Given the description of an element on the screen output the (x, y) to click on. 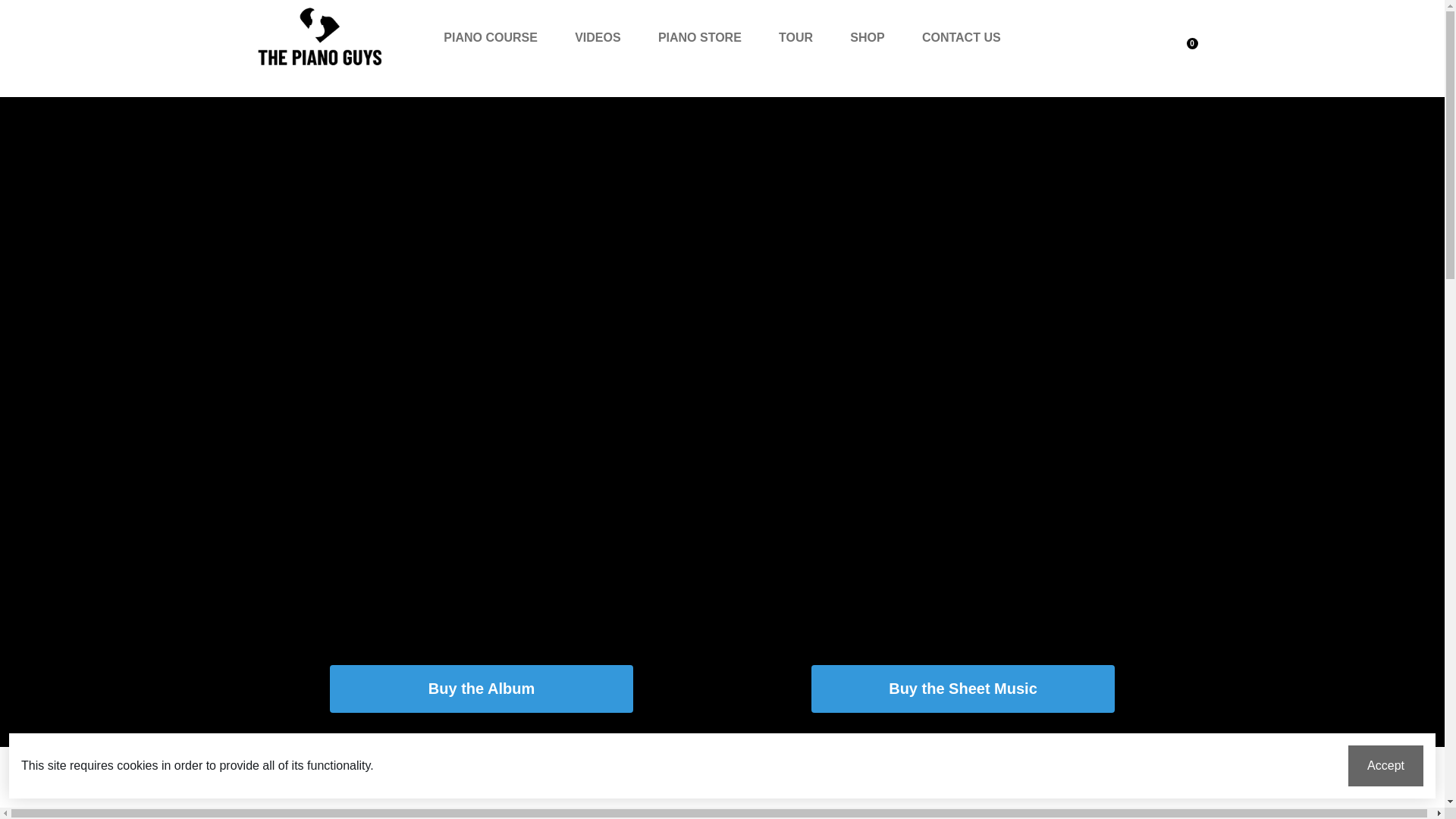
PIANO COURSE (490, 37)
TOUR (795, 37)
PIANO STORE (700, 37)
CONTACT US (961, 37)
SHOP (866, 37)
VIDEOS (596, 37)
